Given the description of an element on the screen output the (x, y) to click on. 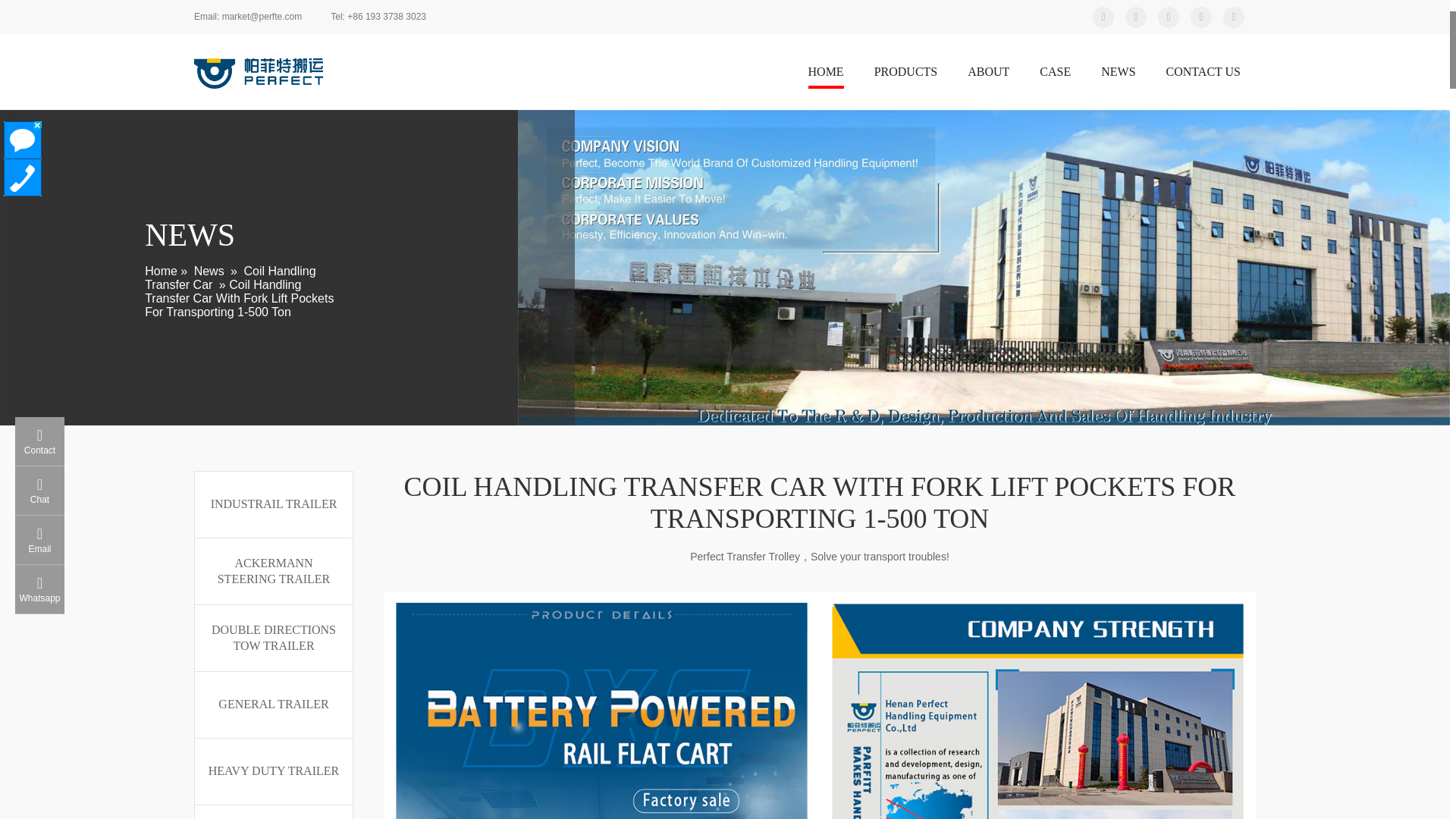
Perfect coil transfer trolley facebook (1201, 16)
Perfect coil transfer trolley email (247, 17)
Perfect coil transfer trolley email (378, 17)
ABOUT (988, 73)
Perfect coil transfer trolley supplier (258, 73)
Perfect coil transfer trolley ins (1233, 16)
Perfect coil transfer trolley linkedin (1168, 16)
Products (906, 73)
CONTACT US (1203, 73)
Perfect coil transfer trolley youtube (1136, 16)
Perfect coil transfer trolley twitter (1103, 16)
PRODUCTS (906, 73)
